Given the description of an element on the screen output the (x, y) to click on. 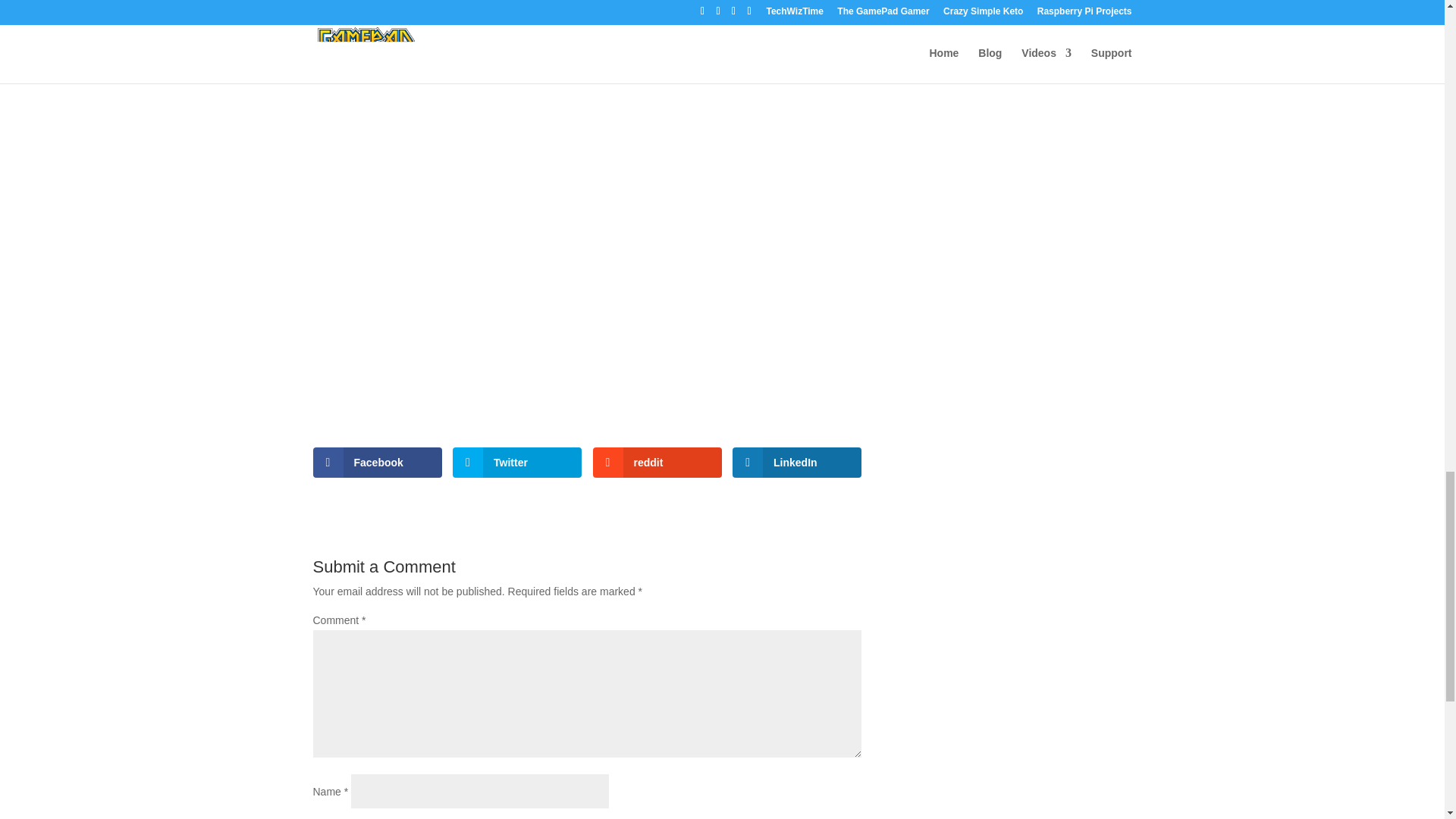
Twitter (516, 462)
reddit (657, 462)
LinkedIn (796, 462)
Facebook (377, 462)
